Given the description of an element on the screen output the (x, y) to click on. 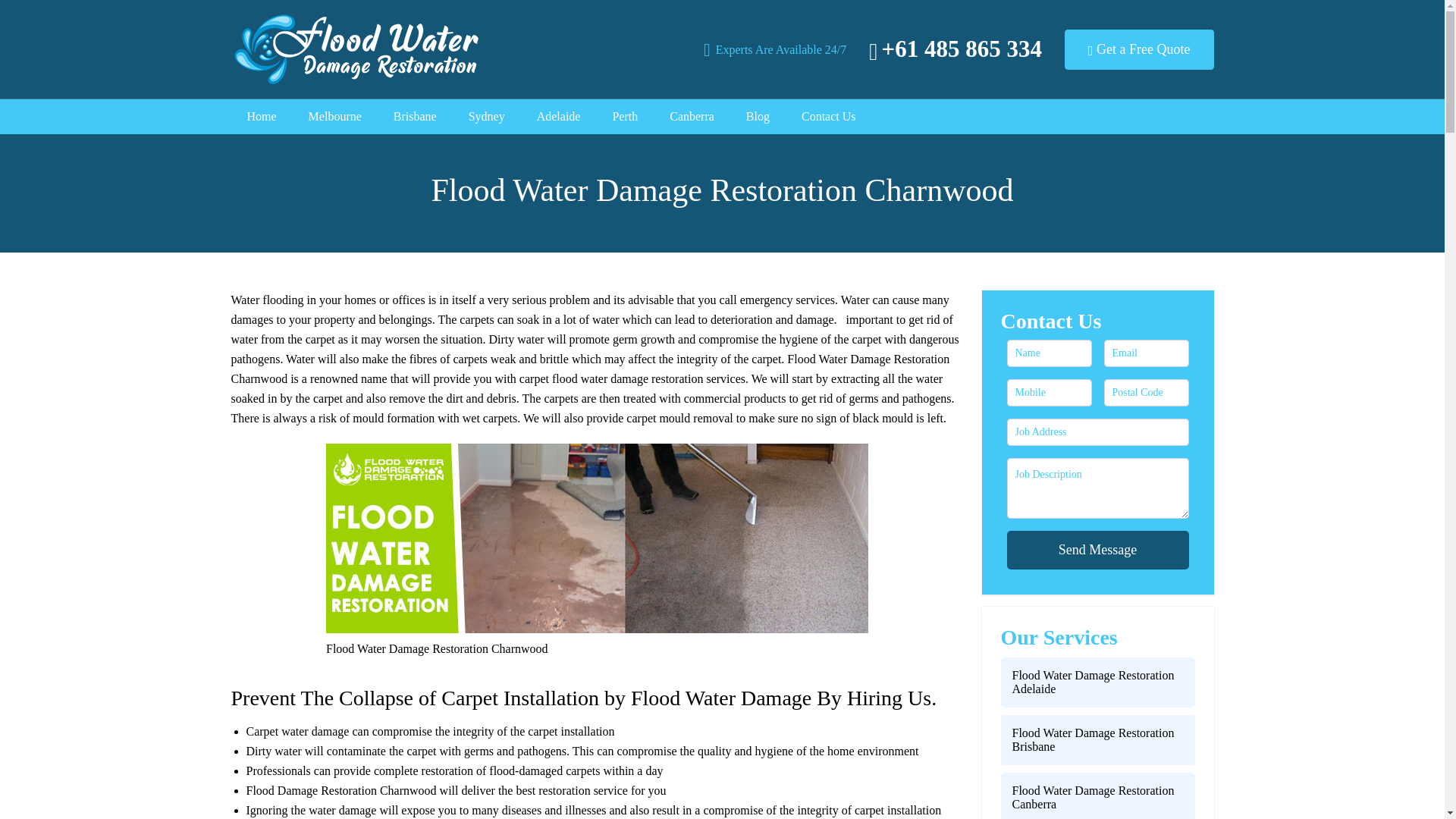
Blog (757, 116)
Brisbane (414, 116)
Home (261, 116)
Perth (624, 116)
Send Message (1098, 549)
Canberra (691, 116)
Melbourne (335, 116)
Adelaide (558, 116)
Get a Free Quote (1139, 48)
Sydney (485, 116)
